Given the description of an element on the screen output the (x, y) to click on. 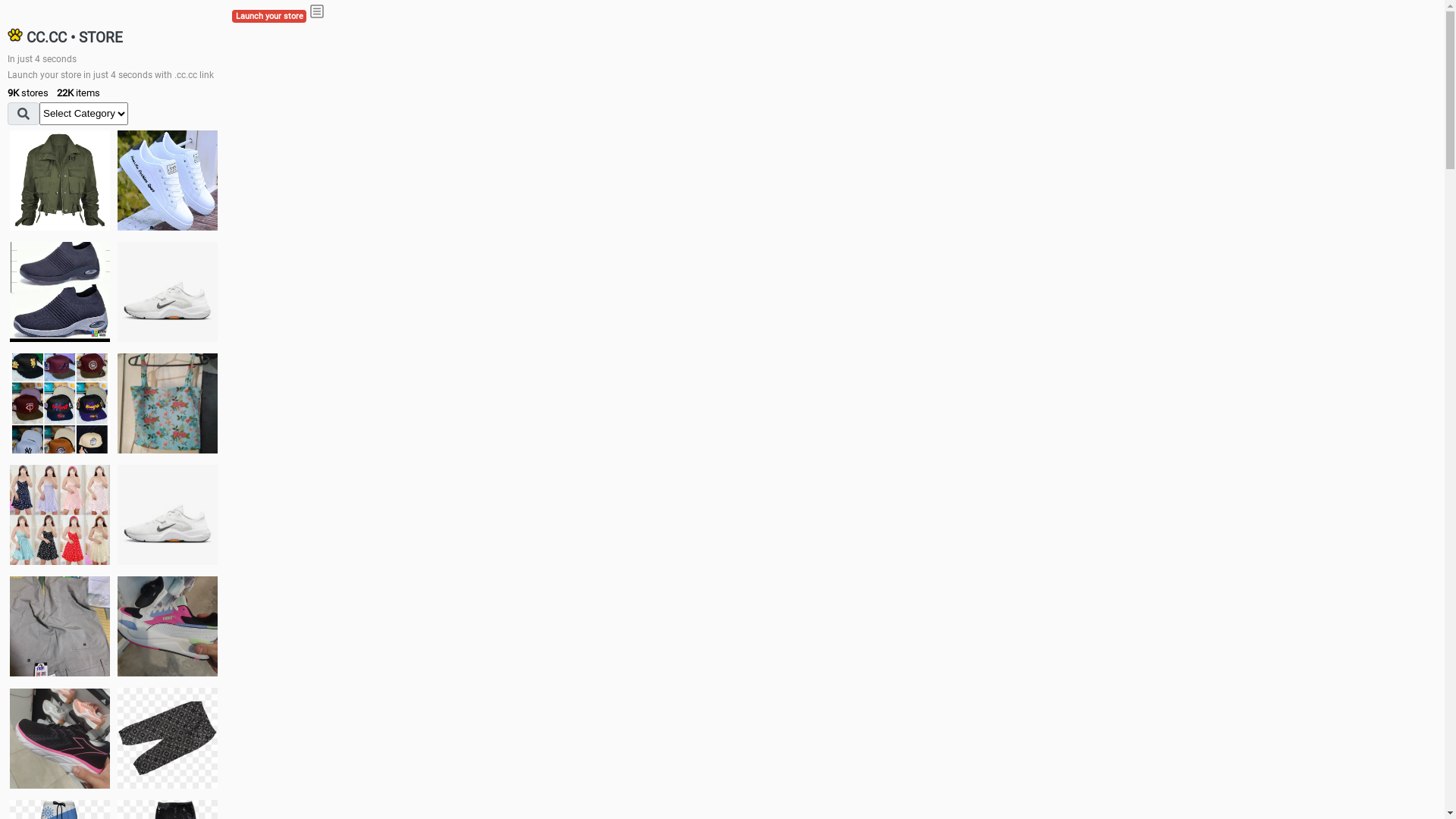
Zapatillas Element type: hover (59, 738)
shoes for boys Element type: hover (59, 291)
Things we need Element type: hover (59, 403)
Ukay cloth Element type: hover (167, 403)
Zapatillas pumas Element type: hover (167, 626)
Launch your store Element type: text (269, 15)
Shoes Element type: hover (167, 514)
Shoes for boys Element type: hover (167, 291)
Short pant Element type: hover (167, 737)
jacket Element type: hover (59, 180)
white shoes Element type: hover (167, 180)
Dress/square nect top Element type: hover (59, 514)
